Given the description of an element on the screen output the (x, y) to click on. 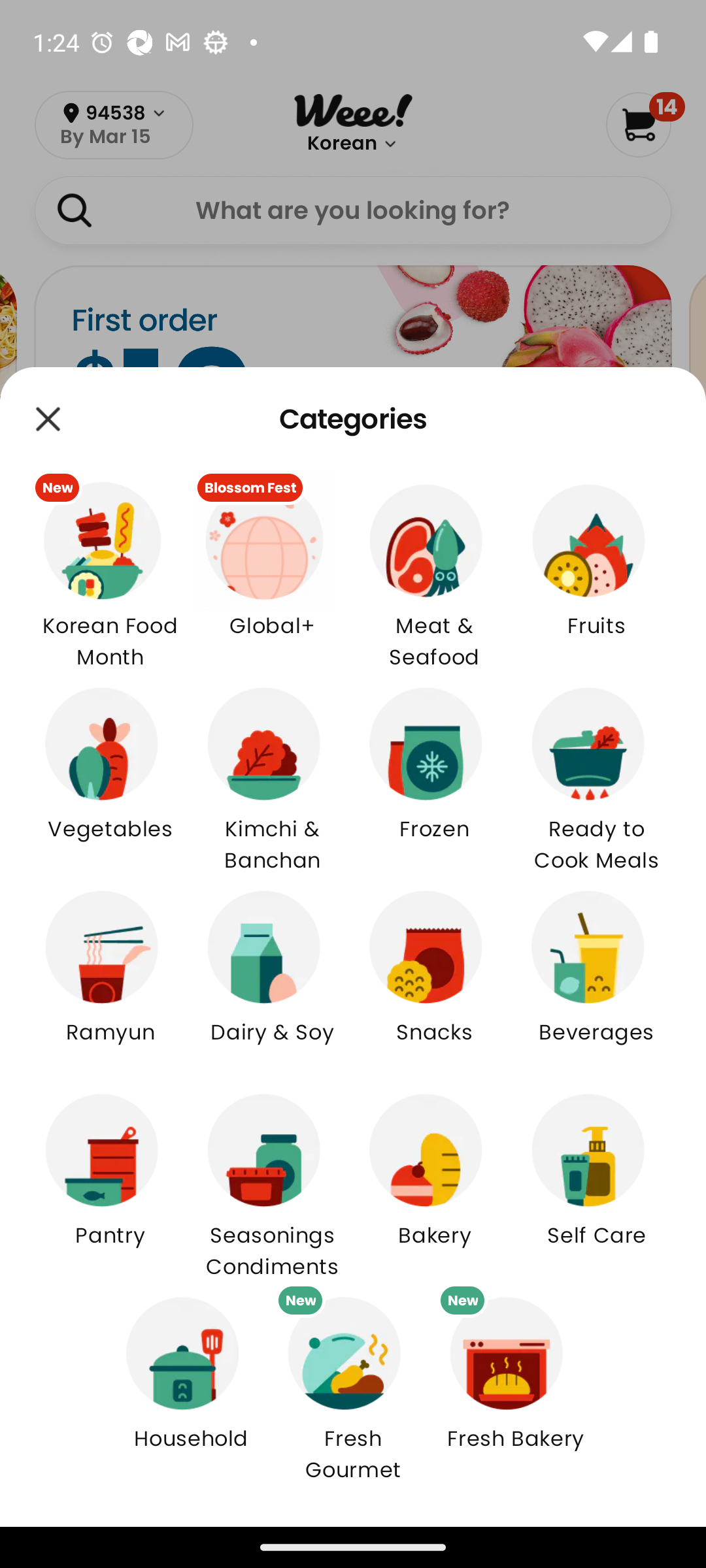
New Korean Food Month (109, 570)
Blossom Fest Global+ (271, 572)
Meat & Seafood (434, 570)
Fruits (596, 572)
Vegetables (109, 775)
Kimchi & Banchan (271, 774)
Frozen (434, 775)
Ready to Cook Meals (596, 774)
Ramyun (109, 978)
Dairy & Soy (271, 978)
Snacks (434, 978)
Beverages (596, 978)
Pantry (109, 1181)
Seasonings Condiments (271, 1180)
Bakery (434, 1181)
Self Care (596, 1181)
Household (190, 1384)
New Fresh Gourmet (352, 1383)
New Fresh Bakery (514, 1384)
